Given the description of an element on the screen output the (x, y) to click on. 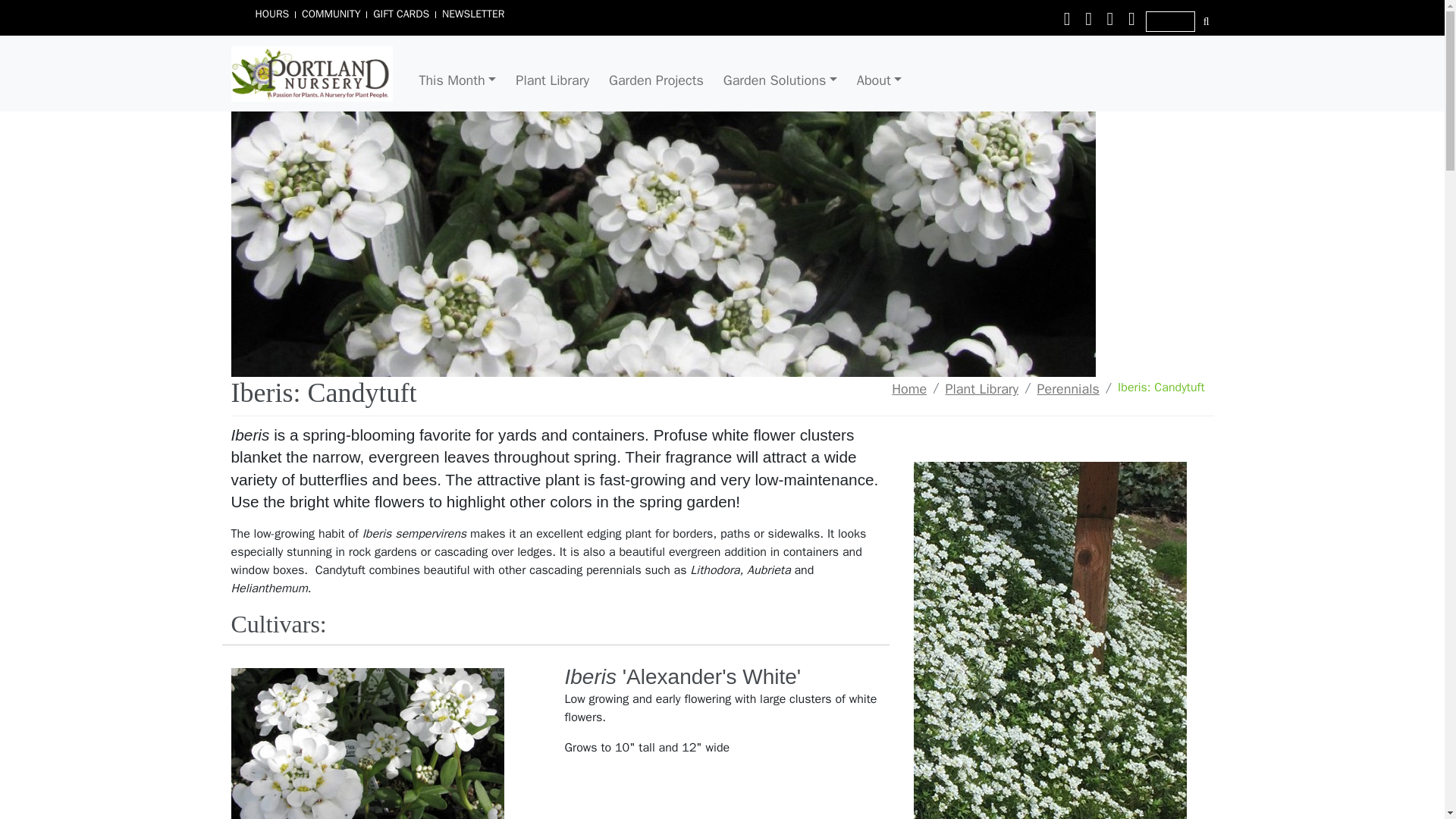
COMMUNITY (331, 13)
Garden Solutions (780, 80)
About (879, 80)
Perennials (1067, 388)
Plant Library (552, 80)
HOURS (271, 13)
Garden Projects (656, 80)
GIFT CARDS (400, 13)
NEWSLETTER (473, 13)
